Given the description of an element on the screen output the (x, y) to click on. 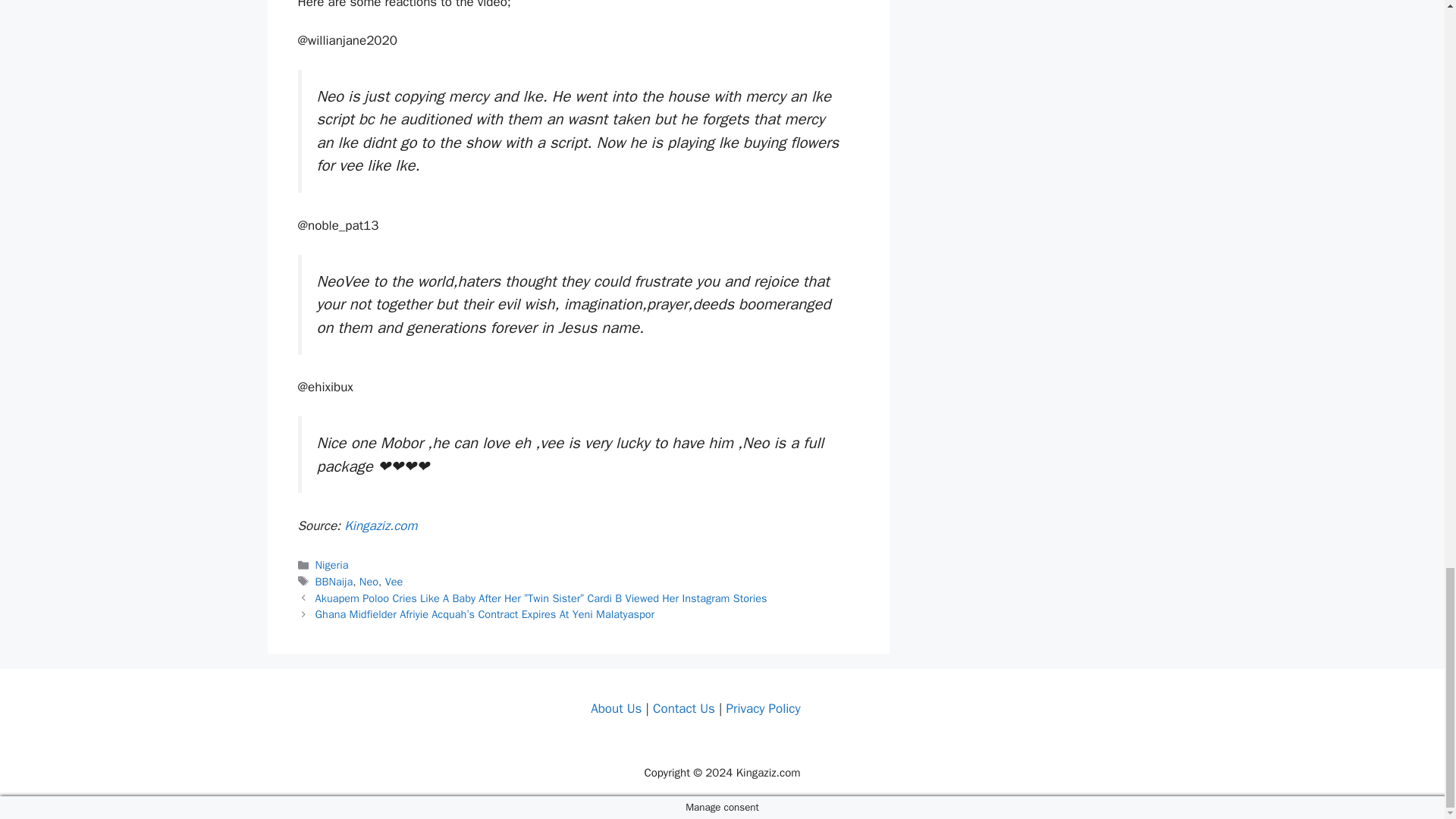
Privacy Policy (762, 708)
Nigeria (332, 564)
About Us (616, 708)
Neo (368, 581)
Contact Us (683, 708)
Kingaziz.com (379, 525)
BBNaija (334, 581)
Vee (394, 581)
